Given the description of an element on the screen output the (x, y) to click on. 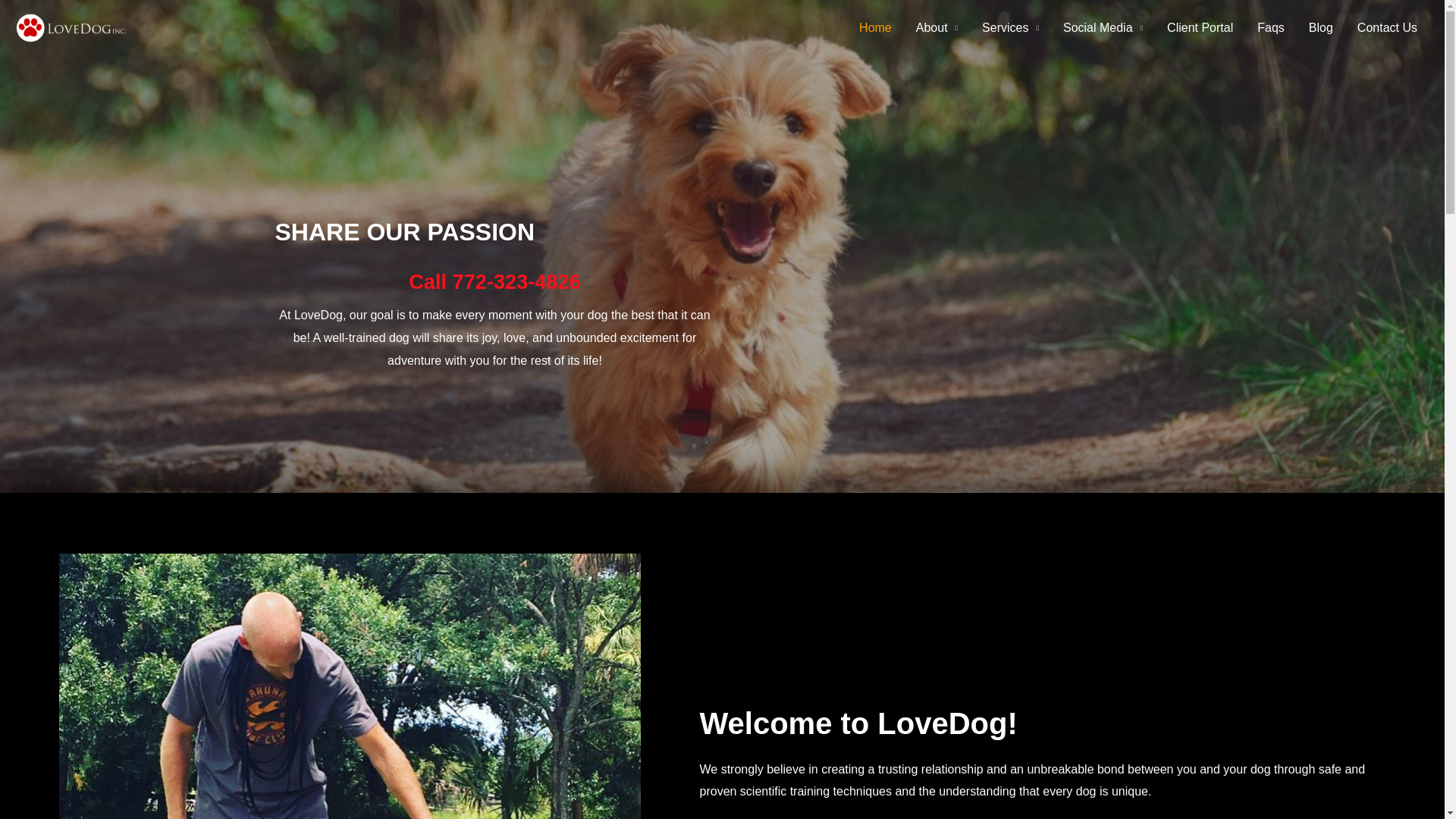
Client Portal (1199, 27)
Services (1010, 27)
Blog (1321, 27)
Home (875, 27)
Social Media (1102, 27)
Faqs (1270, 27)
About (936, 27)
Contact Us (1387, 27)
